Given the description of an element on the screen output the (x, y) to click on. 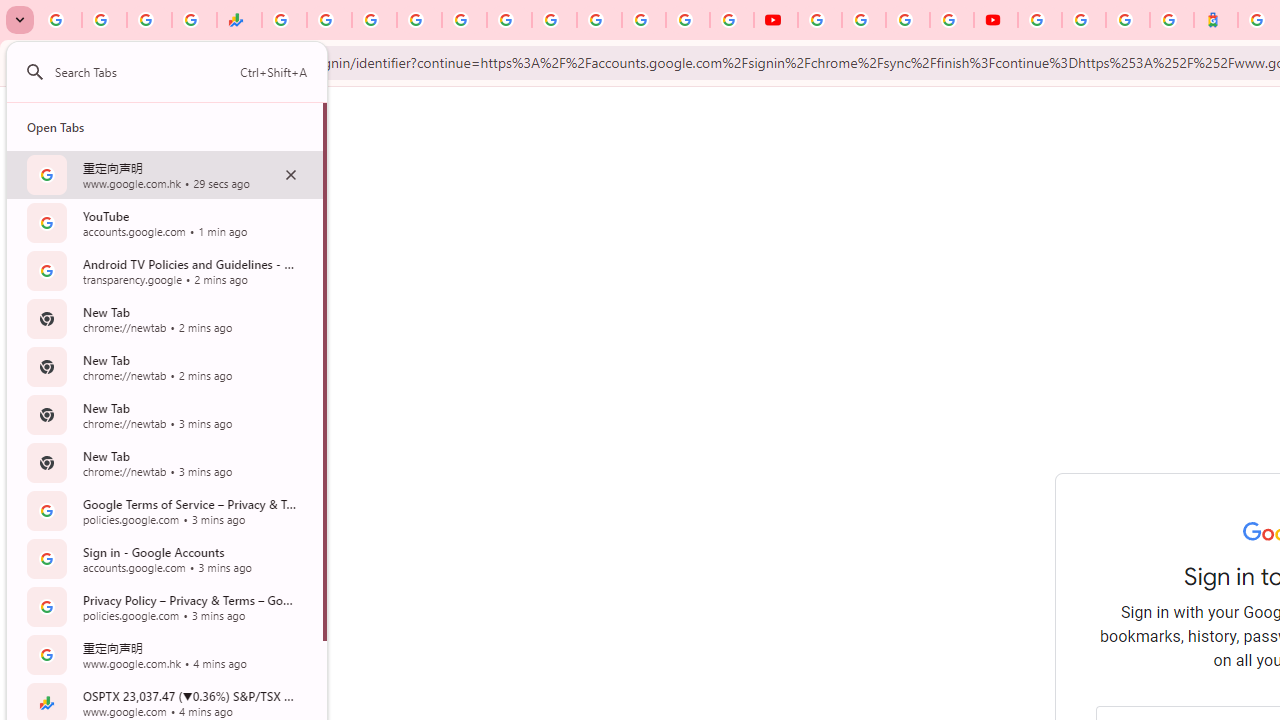
Android TV Policies and Guidelines - Transparency Center (554, 20)
Create your Google Account (907, 20)
YouTube (819, 20)
YouTube (775, 20)
YouTube (599, 20)
Google Account Help (863, 20)
Sign in - Google Accounts (418, 20)
New Tab newtab 2 mins ago Open Tab (164, 366)
Atour Hotel - Google hotels (1215, 20)
